Given the description of an element on the screen output the (x, y) to click on. 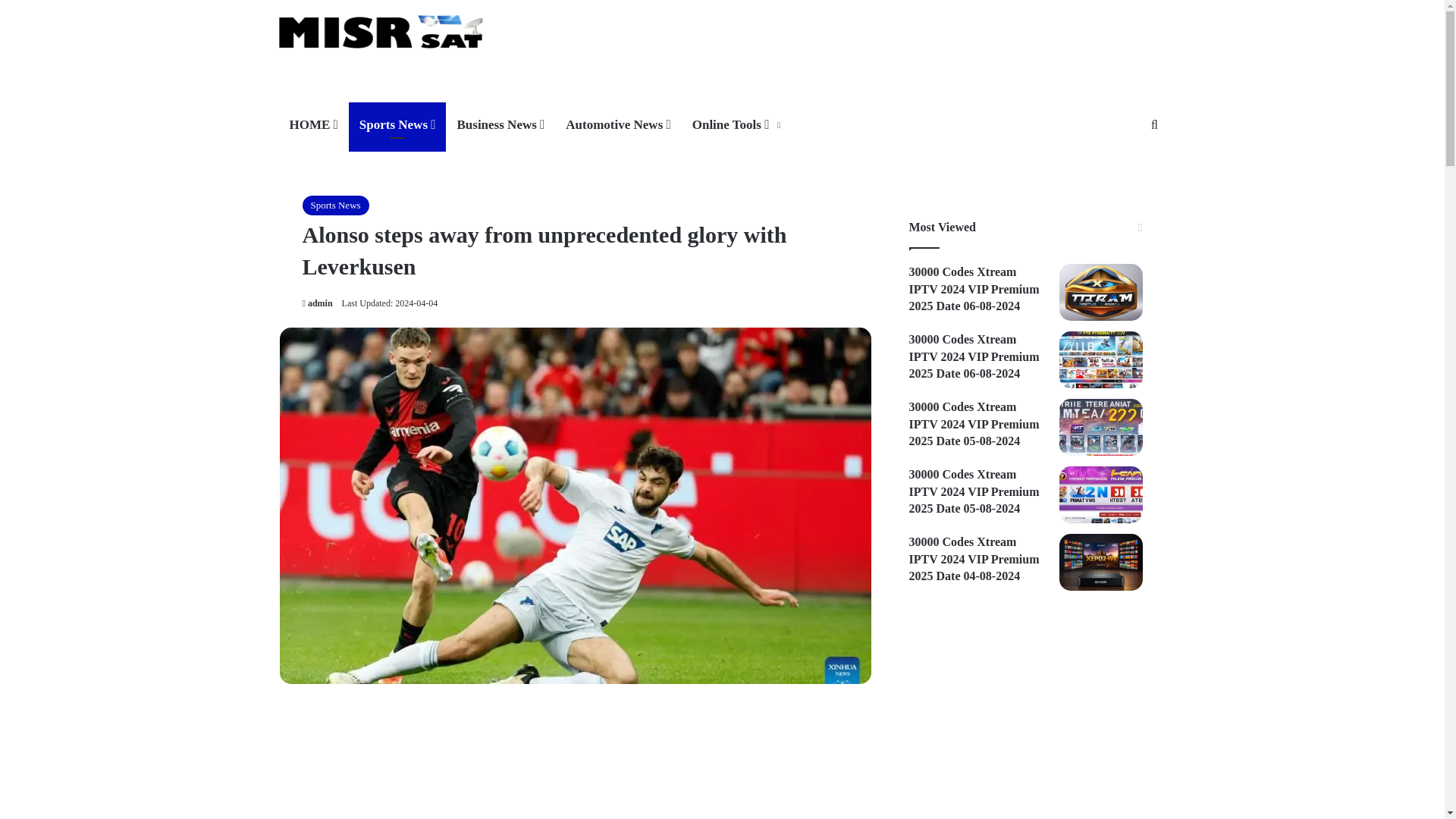
Sports News (397, 125)
Automotive News (617, 125)
admin (316, 303)
Business News (499, 125)
HOME (314, 125)
Online Tools (735, 125)
admin (316, 303)
Sports News (334, 205)
